Given the description of an element on the screen output the (x, y) to click on. 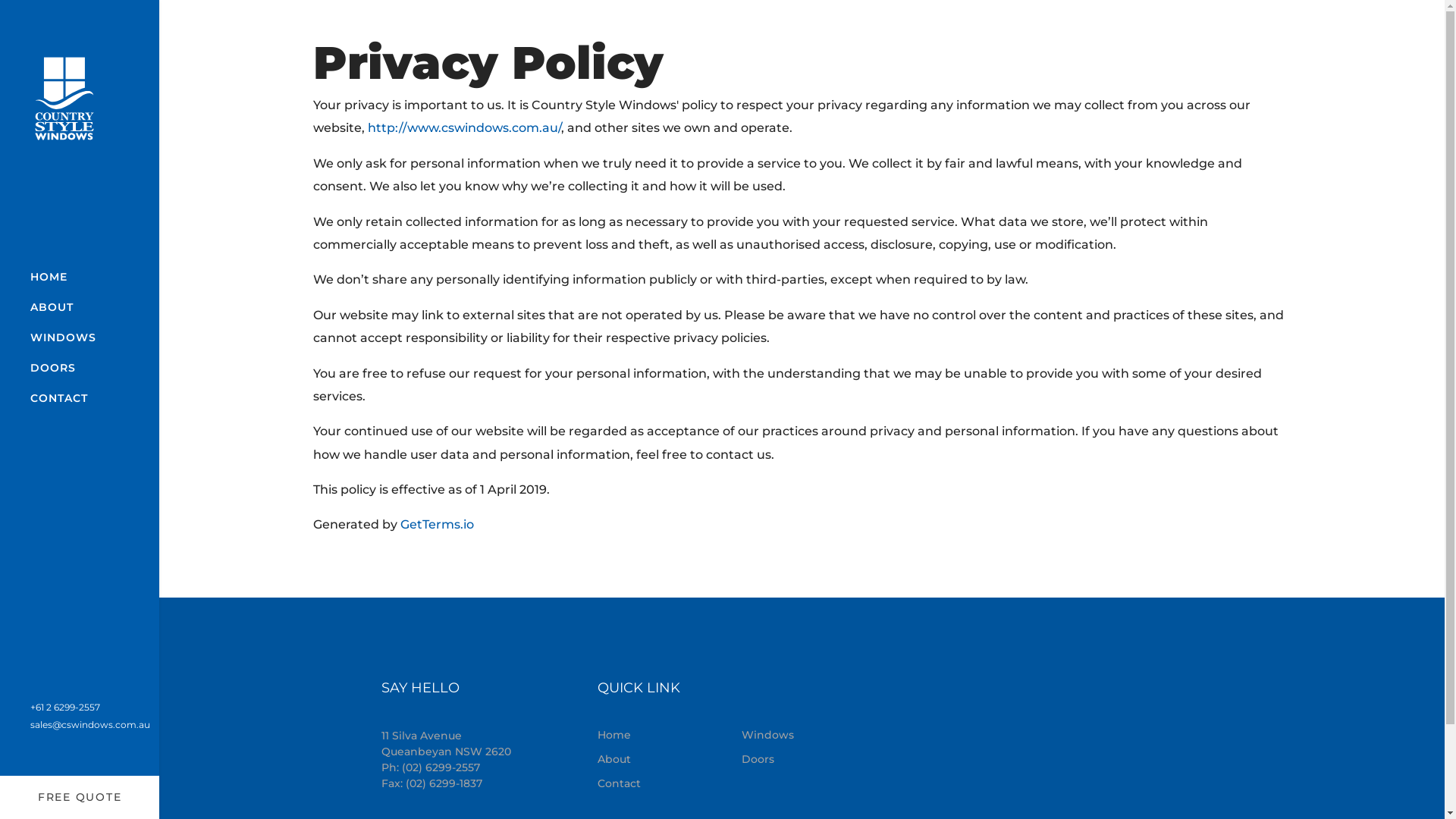
DOORS Element type: text (52, 367)
sales@cswindows.com.au Element type: text (90, 724)
http://www.cswindows.com.au/ Element type: text (463, 127)
GetTerms.io Element type: text (436, 524)
ABOUT Element type: text (51, 306)
About Element type: text (638, 758)
Home Element type: text (638, 734)
HOME Element type: text (48, 276)
WINDOWS Element type: text (63, 337)
Contact Element type: text (638, 783)
+61 2 6299-2557 Element type: text (65, 706)
CONTACT Element type: text (58, 397)
Windows Element type: text (982, 734)
Doors Element type: text (982, 758)
